Given the description of an element on the screen output the (x, y) to click on. 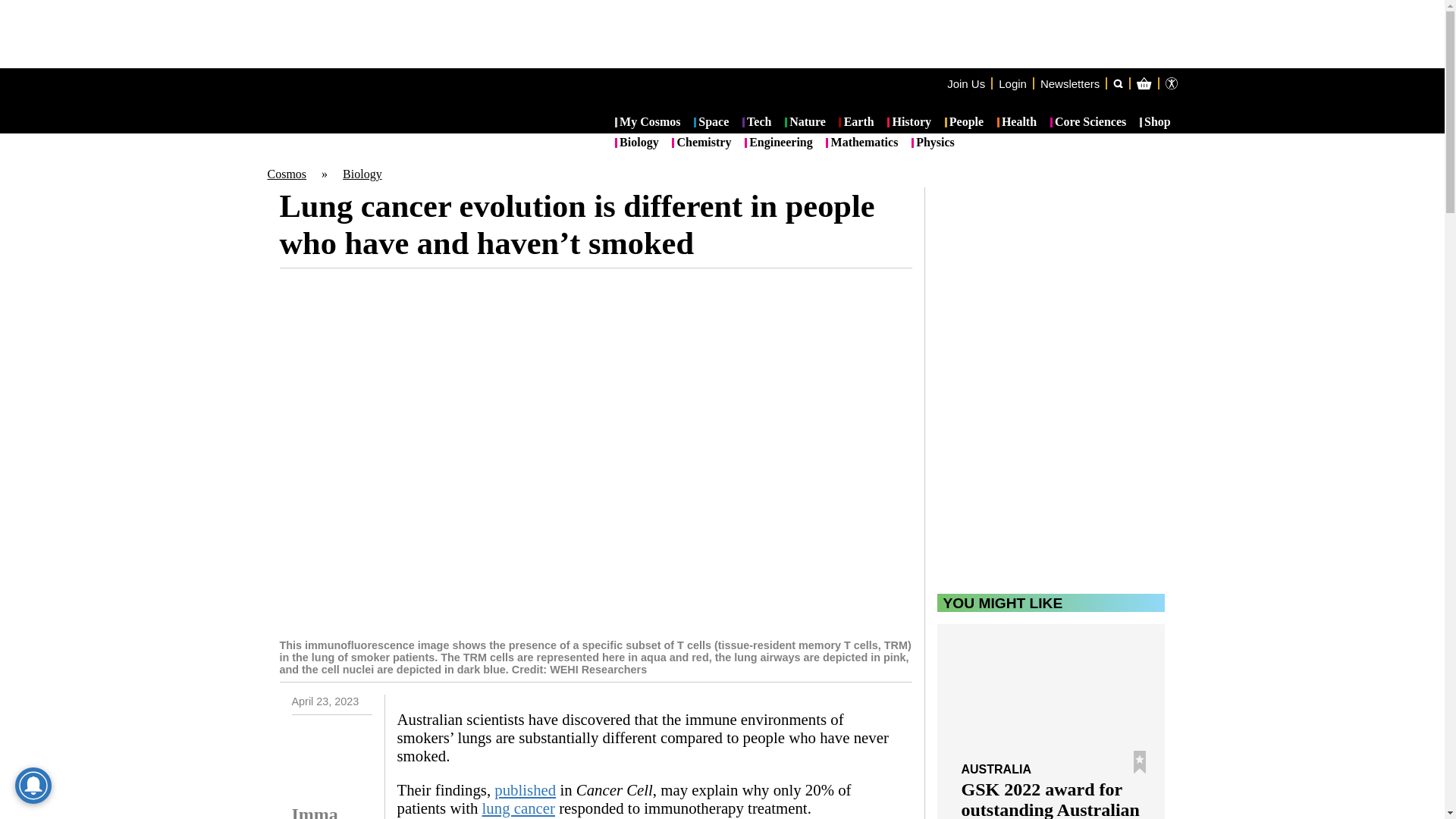
Login (1012, 82)
Biology (361, 173)
Health (1016, 122)
Physics (933, 143)
Join Us (966, 82)
Shop (1155, 122)
Cart (1223, 144)
Engineering (778, 143)
Tech (756, 122)
Chemistry (700, 143)
